Given the description of an element on the screen output the (x, y) to click on. 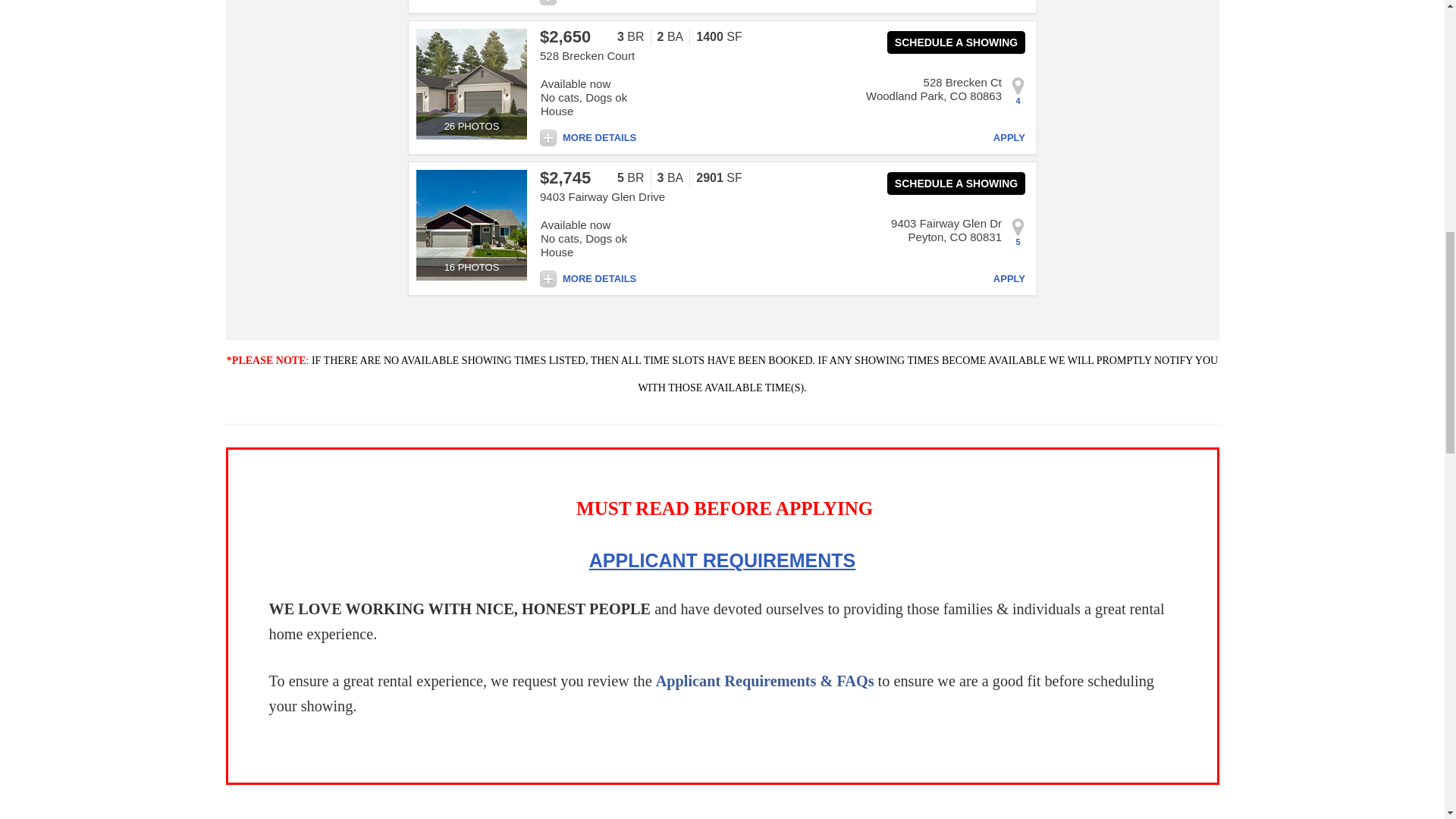
Applicant Requirements (722, 561)
